Given the description of an element on the screen output the (x, y) to click on. 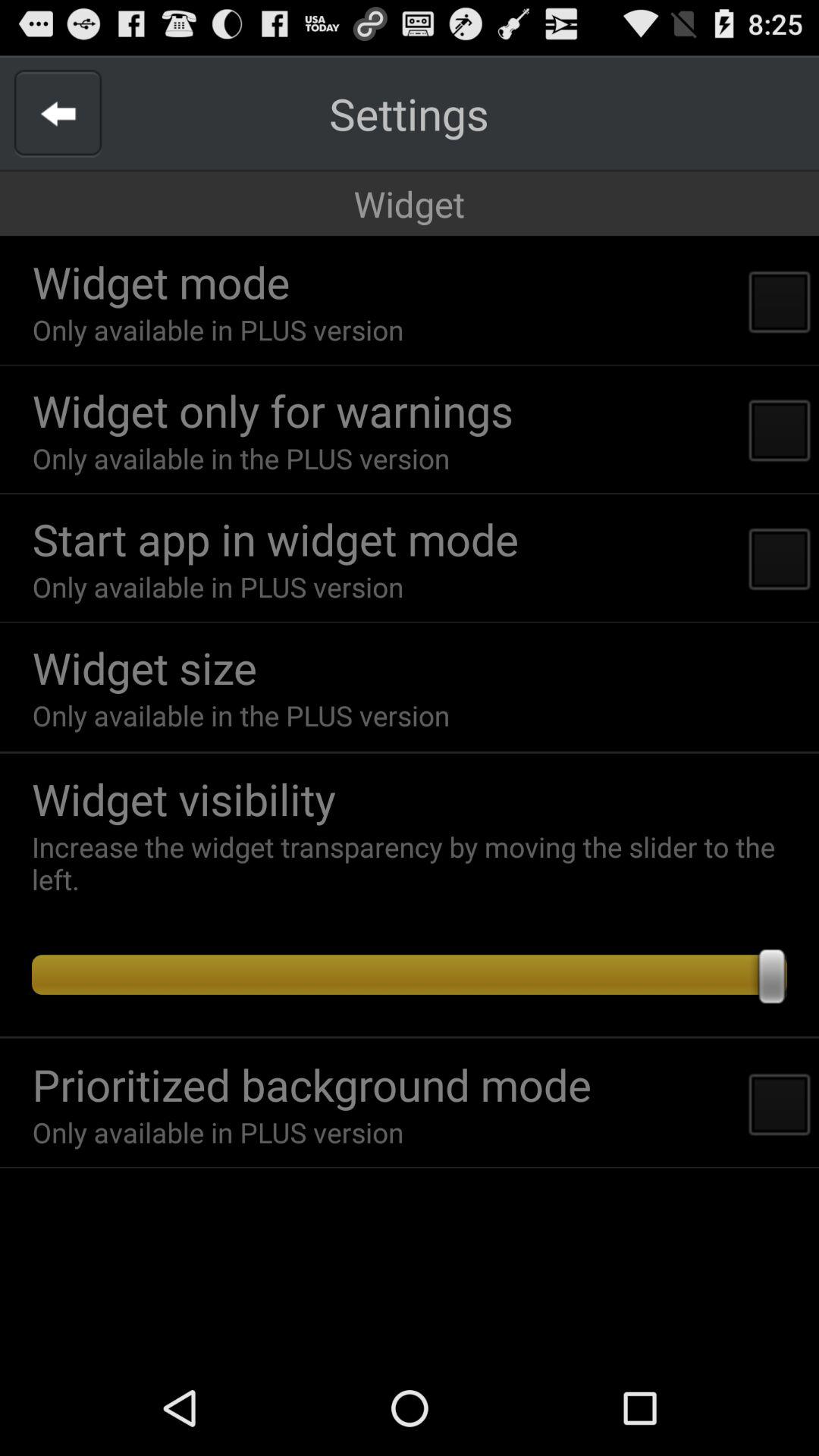
turn off icon above the widget item (409, 112)
